Given the description of an element on the screen output the (x, y) to click on. 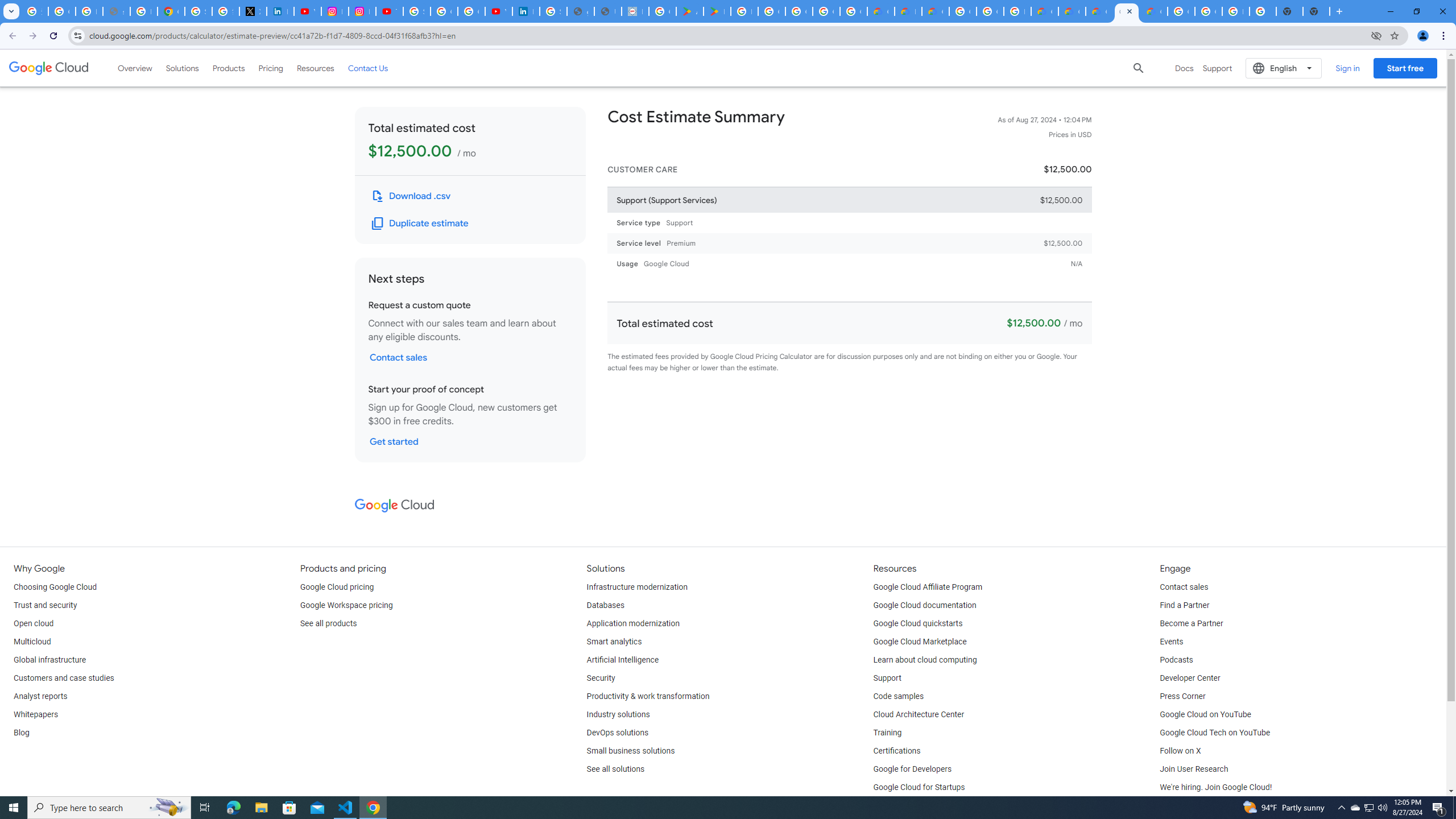
Google Cloud Marketplace (919, 642)
Find a Partner (1183, 605)
Press Corner (1181, 696)
Gemini for Business and Developers | Google Cloud (935, 11)
Google Cloud Pricing Calculator (1071, 11)
Google Cloud Platform (990, 11)
Google Cloud quickstarts (917, 624)
Google Cloud Platform (1180, 11)
Products (228, 67)
Global infrastructure (49, 660)
Solutions (181, 67)
Duplicate this estimate (420, 223)
